Given the description of an element on the screen output the (x, y) to click on. 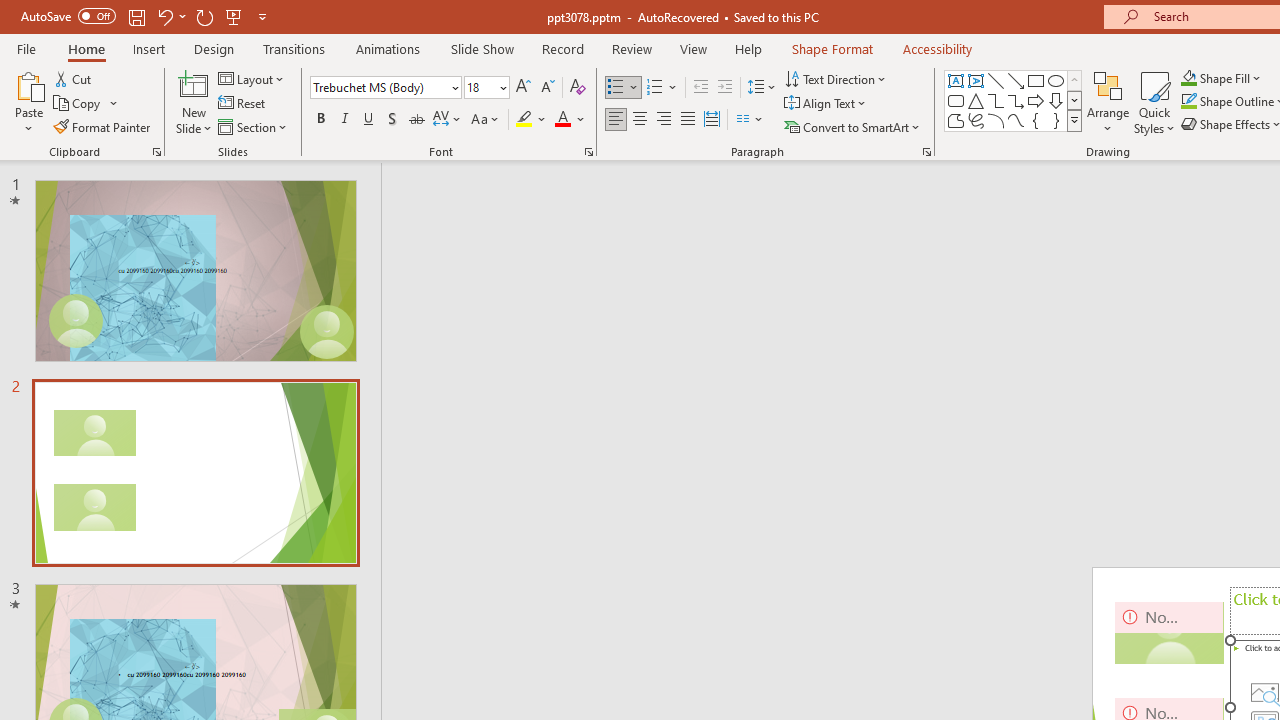
Shape Outline Green, Accent 1 (1188, 101)
